Given the description of an element on the screen output the (x, y) to click on. 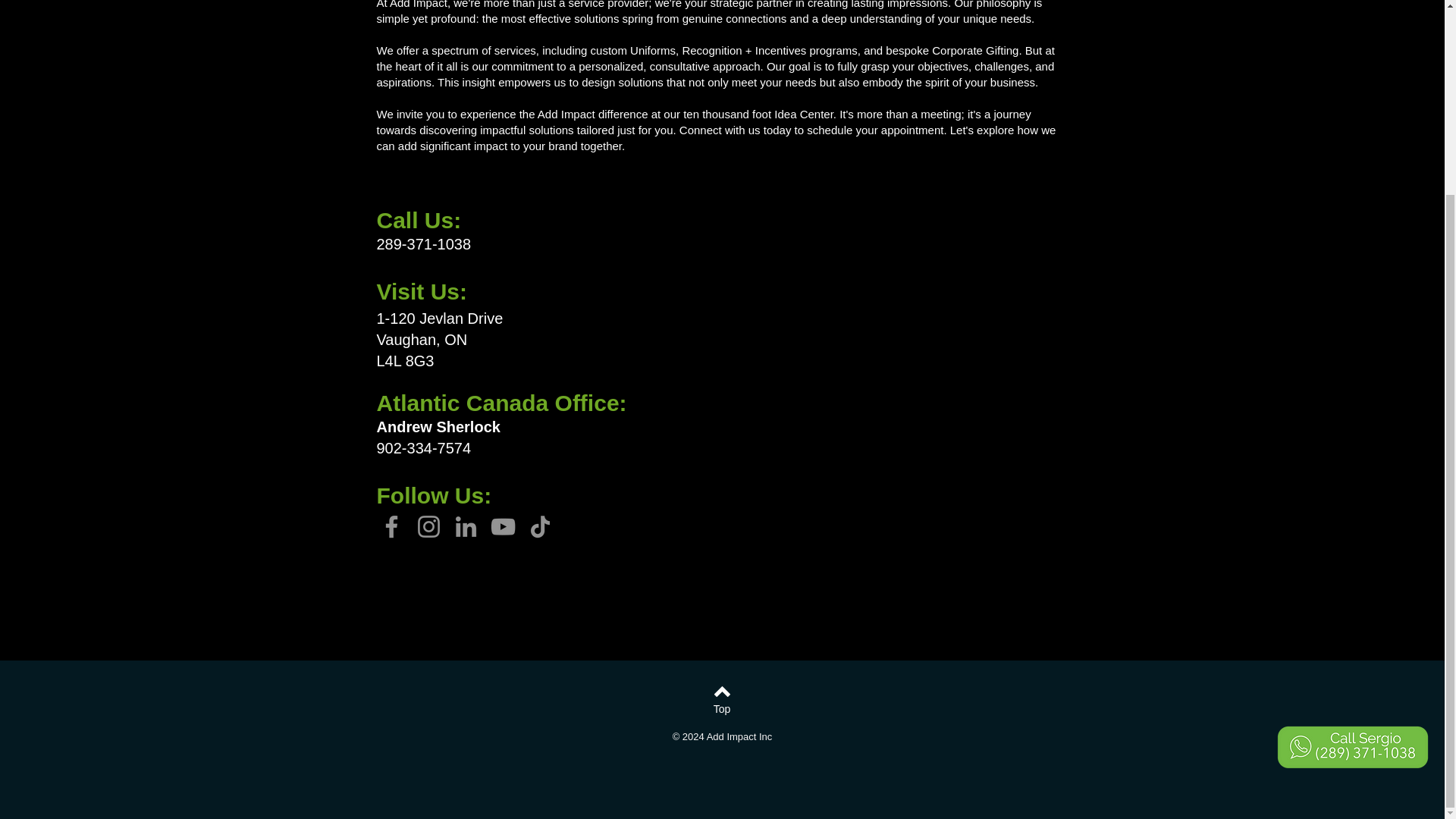
Top (721, 709)
Call button 3.png (1352, 501)
Back to top (722, 691)
